Given the description of an element on the screen output the (x, y) to click on. 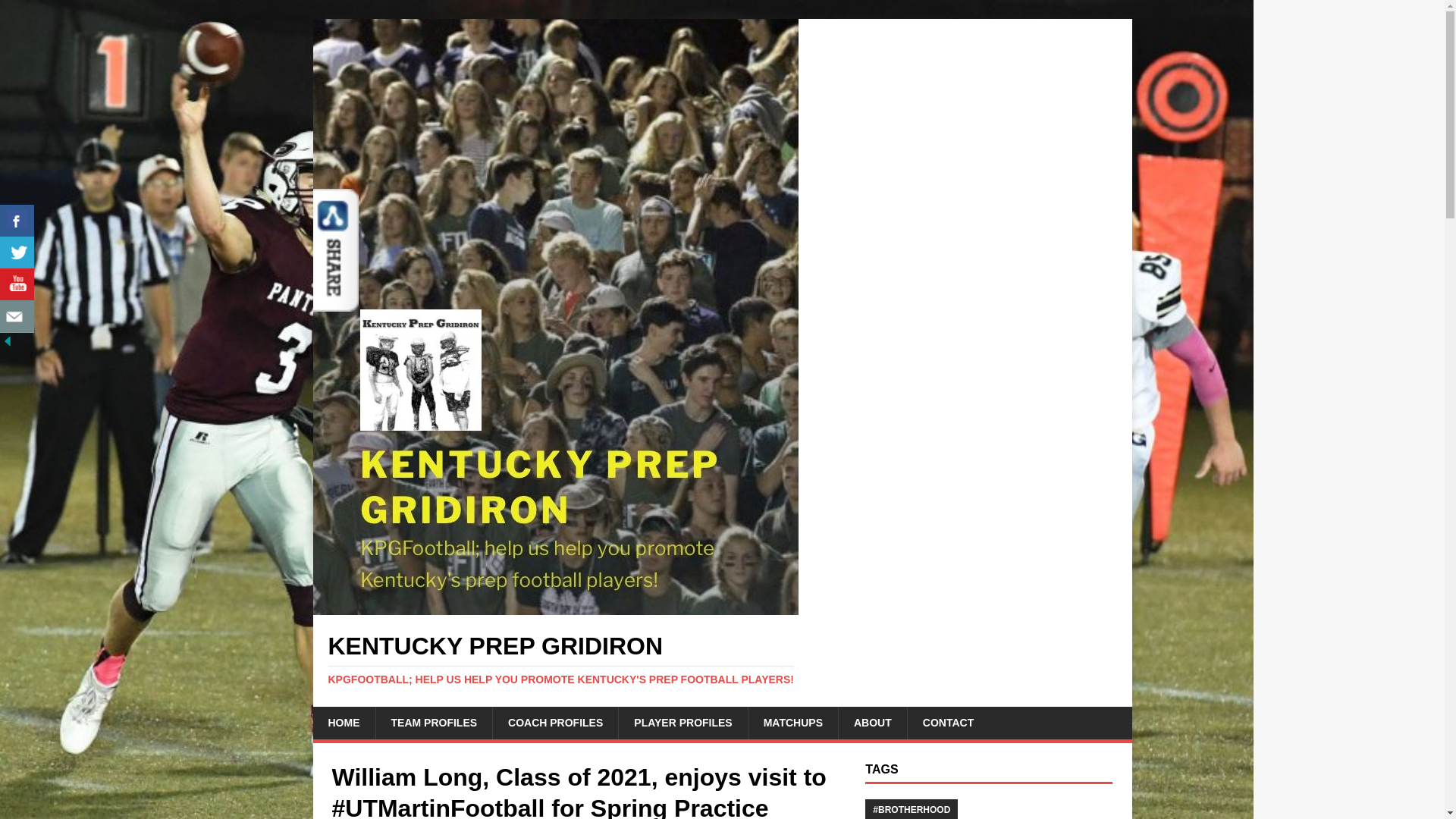
COACH PROFILES (554, 722)
TEAM PROFILES (433, 722)
Kentucky Prep Gridiron (721, 659)
CONTACT (947, 722)
MATCHUPS (793, 722)
Kentucky Prep Gridiron (555, 606)
HOME (343, 722)
PLAYER PROFILES (681, 722)
ABOUT (872, 722)
